Given the description of an element on the screen output the (x, y) to click on. 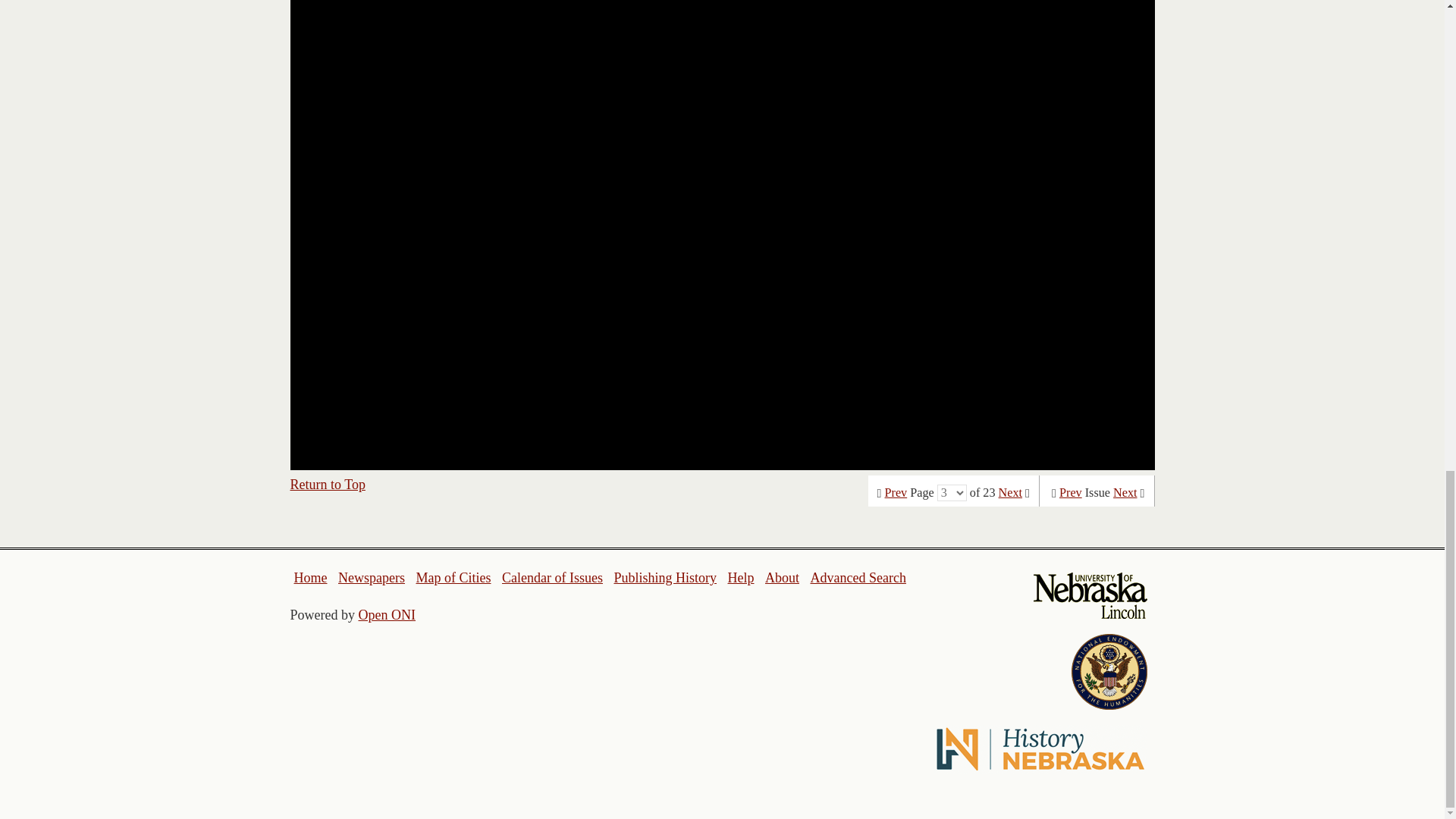
Return to Top (327, 484)
Prev (896, 492)
Next (1125, 492)
Help (740, 577)
Calendar of Issues (552, 577)
Advanced Search (857, 577)
Publishing History (664, 577)
Home (310, 577)
Open ONI (386, 614)
Newspapers (370, 577)
Prev (1070, 492)
Next (1010, 492)
About (782, 577)
Map of Cities (452, 577)
